Given the description of an element on the screen output the (x, y) to click on. 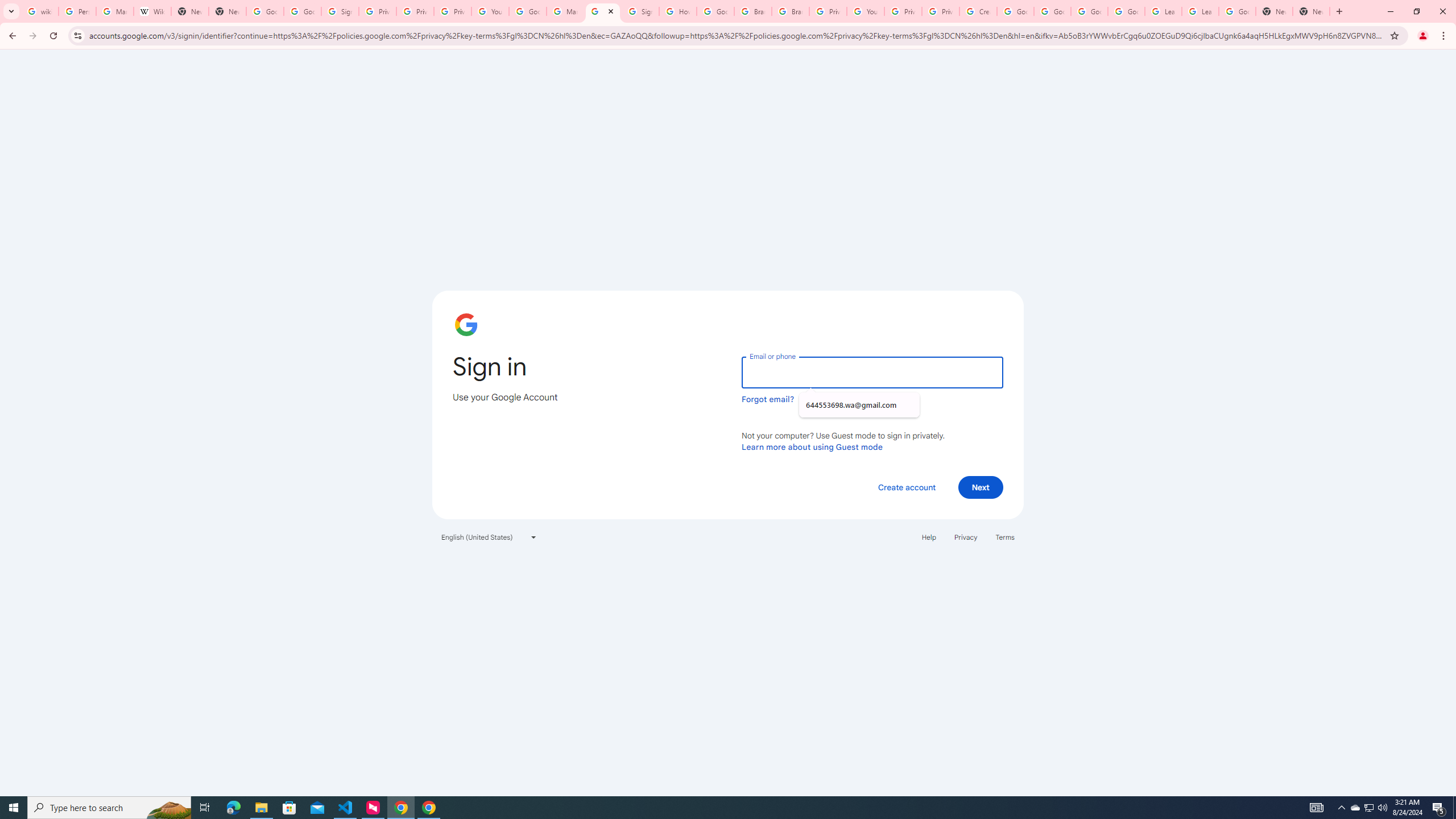
Sign in - Google Accounts (639, 11)
New Tab (227, 11)
